Given the description of an element on the screen output the (x, y) to click on. 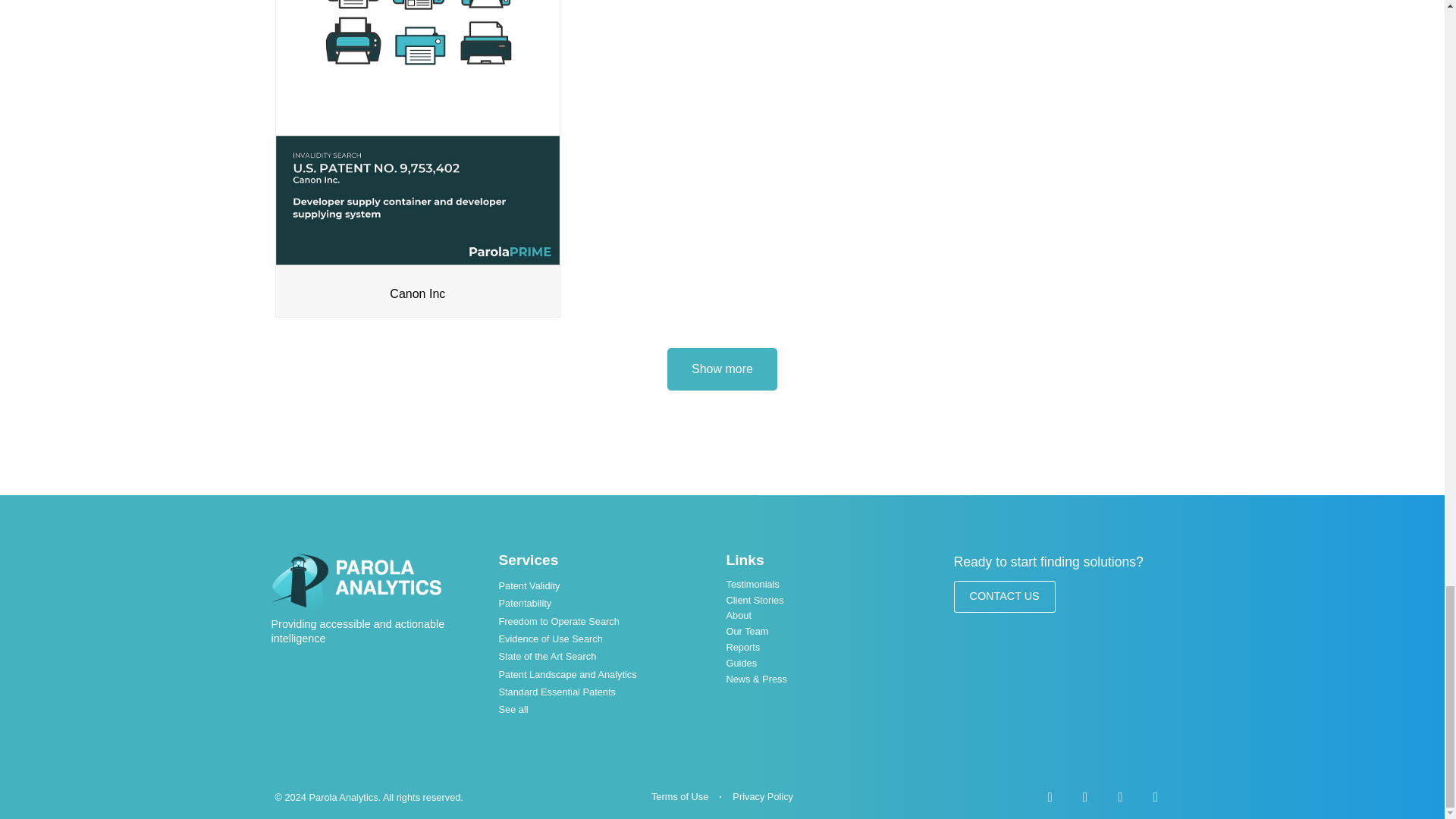
Patentability (609, 602)
Show more (721, 369)
Canon Inc (418, 294)
Evidence of Use Search (609, 638)
Patent Validity (609, 585)
Freedom to Operate Search (609, 620)
